Given the description of an element on the screen output the (x, y) to click on. 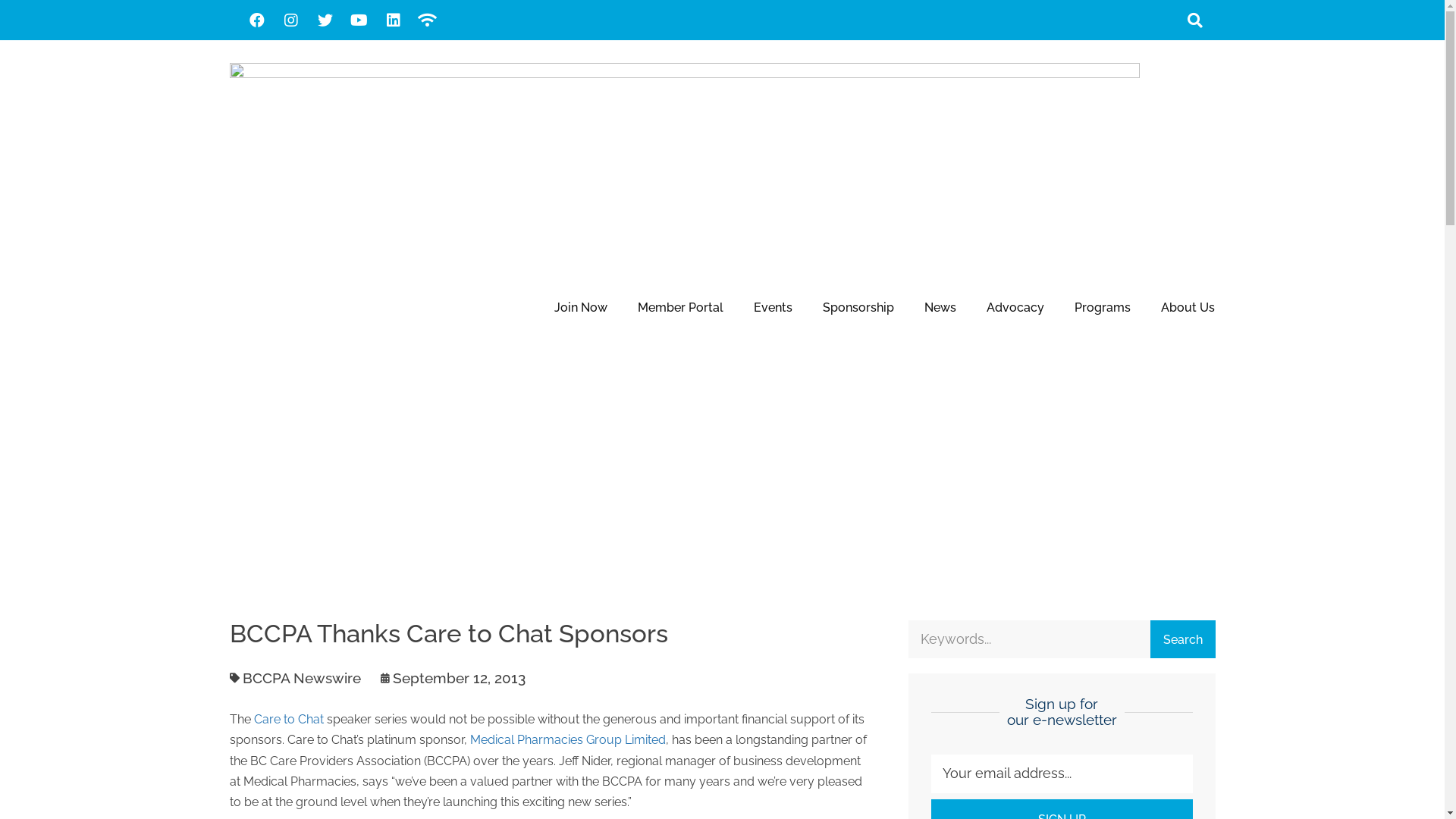
Search Element type: text (1182, 639)
Search Element type: hover (1029, 639)
Care to Chat Element type: text (288, 719)
Advocacy Element type: text (1015, 307)
Medical Pharmacies Group Limited Element type: text (567, 739)
September 12, 2013 Element type: text (451, 678)
Member Portal Element type: text (680, 307)
Sponsorship Element type: text (858, 307)
Events Element type: text (772, 307)
BCCPA Newswire Element type: text (301, 677)
News Element type: text (940, 307)
Join Now Element type: text (580, 307)
Programs Element type: text (1102, 307)
About Us Element type: text (1187, 307)
